Given the description of an element on the screen output the (x, y) to click on. 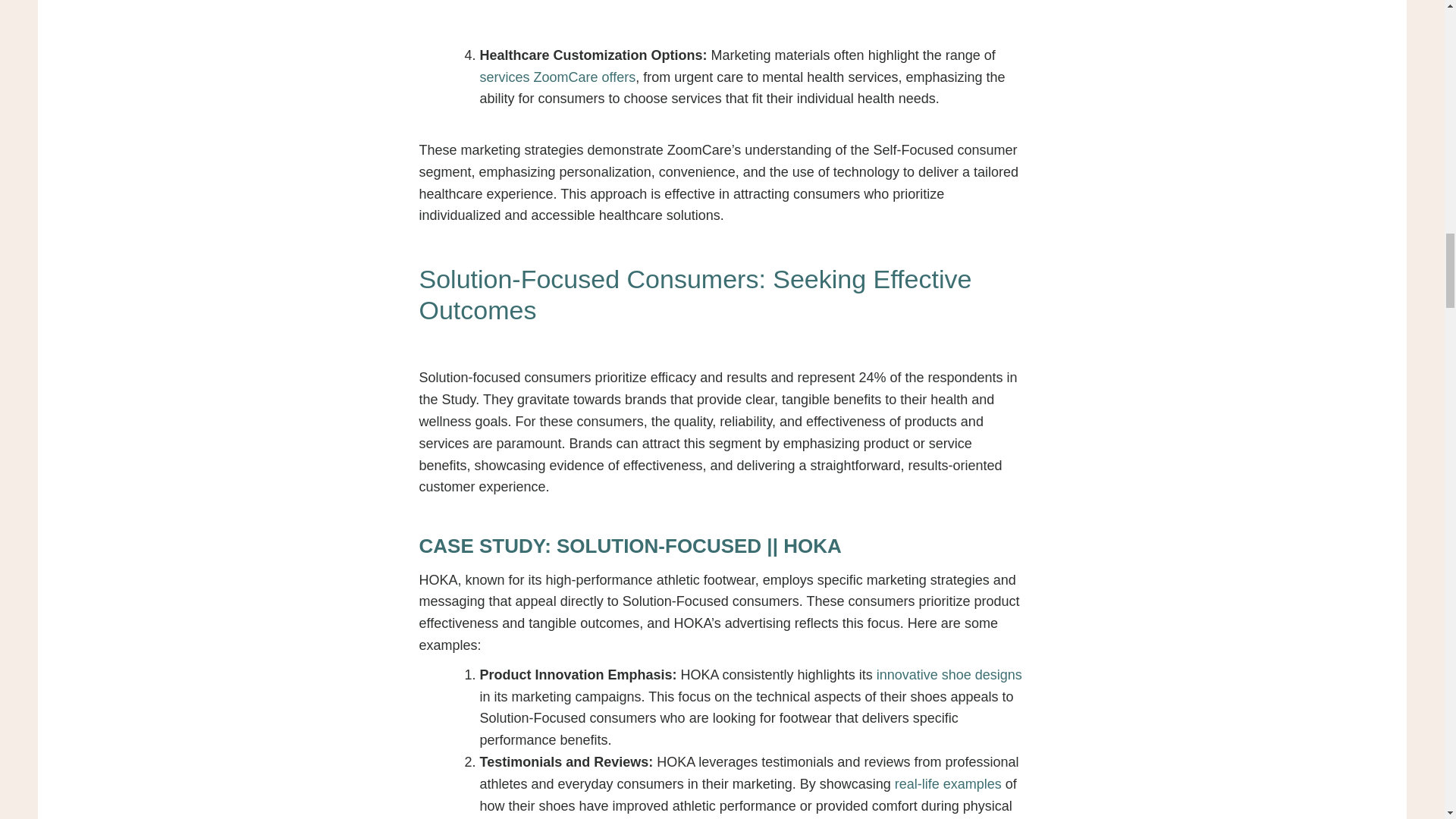
real-life examples (946, 783)
services ZoomCare offers (556, 77)
innovative shoe designs (947, 674)
